Given the description of an element on the screen output the (x, y) to click on. 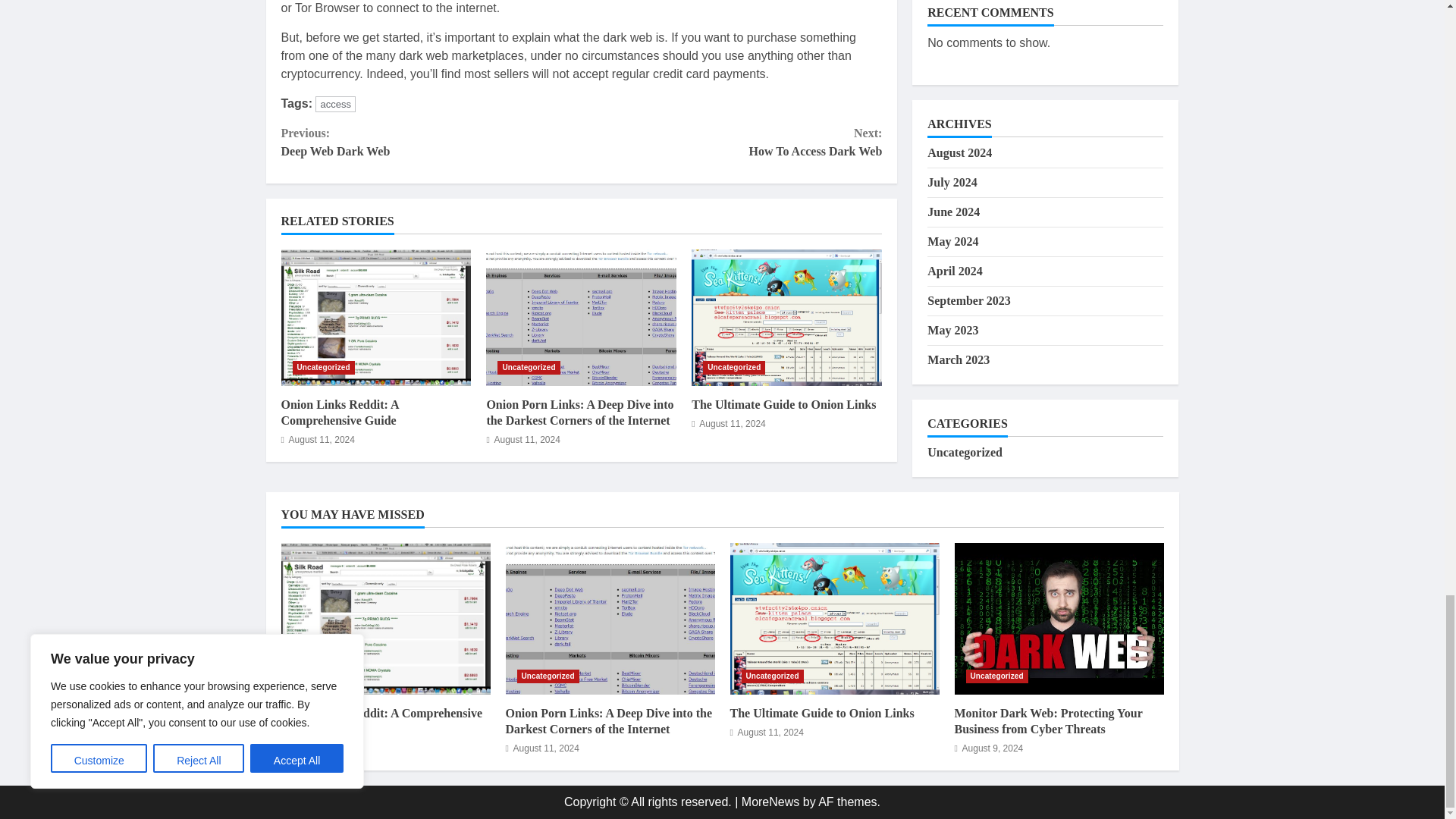
Uncategorized (323, 367)
Uncategorized (734, 367)
The Ultimate Guide to Onion Links (786, 317)
Onion Links Reddit: A Comprehensive Guide (731, 142)
Onion Links Reddit: A Comprehensive Guide (375, 317)
Uncategorized (339, 412)
access (528, 367)
The Ultimate Guide to Onion Links (335, 104)
